Given the description of an element on the screen output the (x, y) to click on. 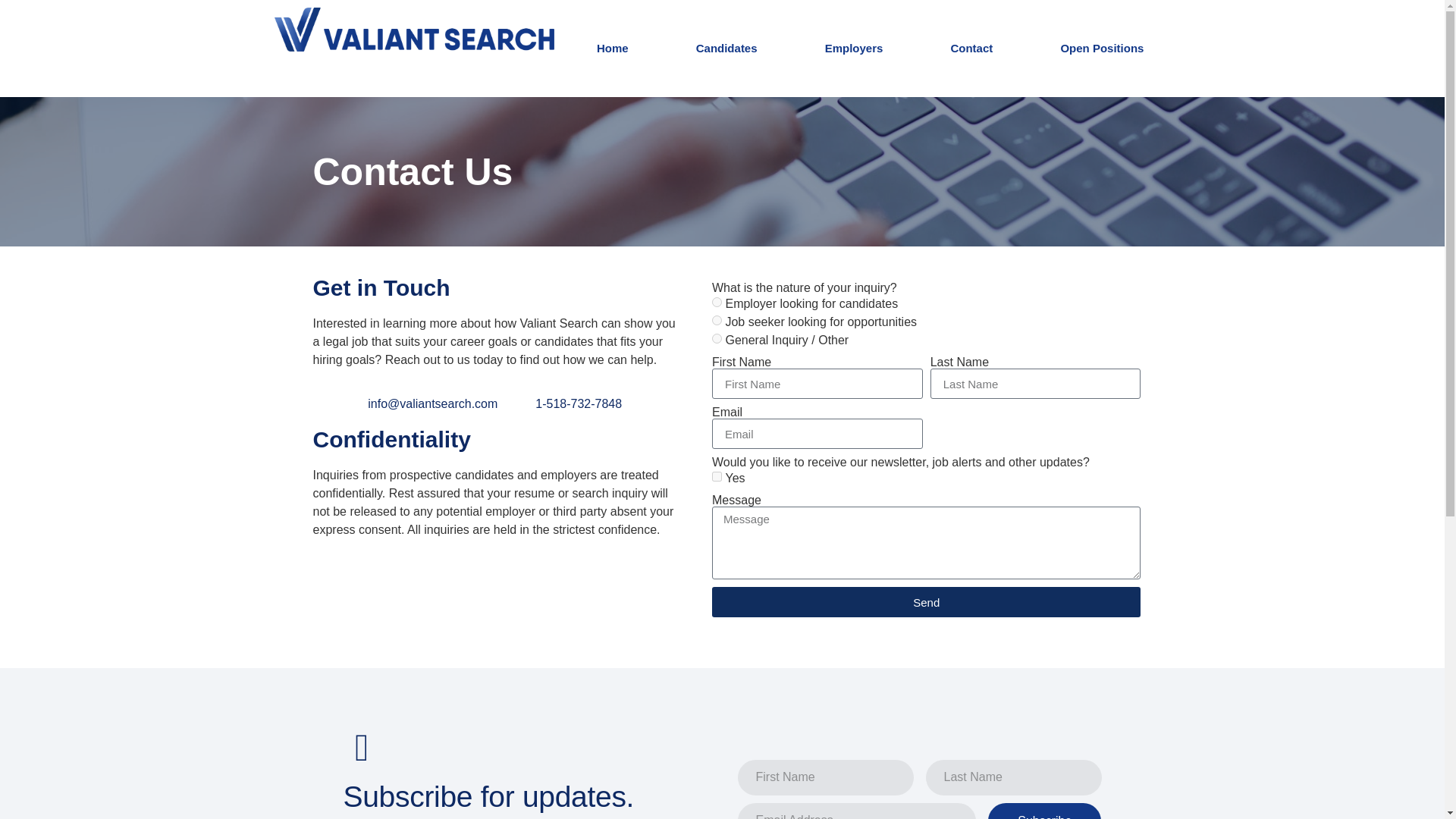
Home (612, 47)
Open Positions (1101, 47)
1-518-732-7848 (578, 403)
Yes (716, 476)
Candidates (726, 47)
Send (925, 602)
Employer looking for candidates (716, 302)
Subscribe (1044, 811)
Employers (853, 47)
Job seeker looking for opportunities (716, 320)
